Given the description of an element on the screen output the (x, y) to click on. 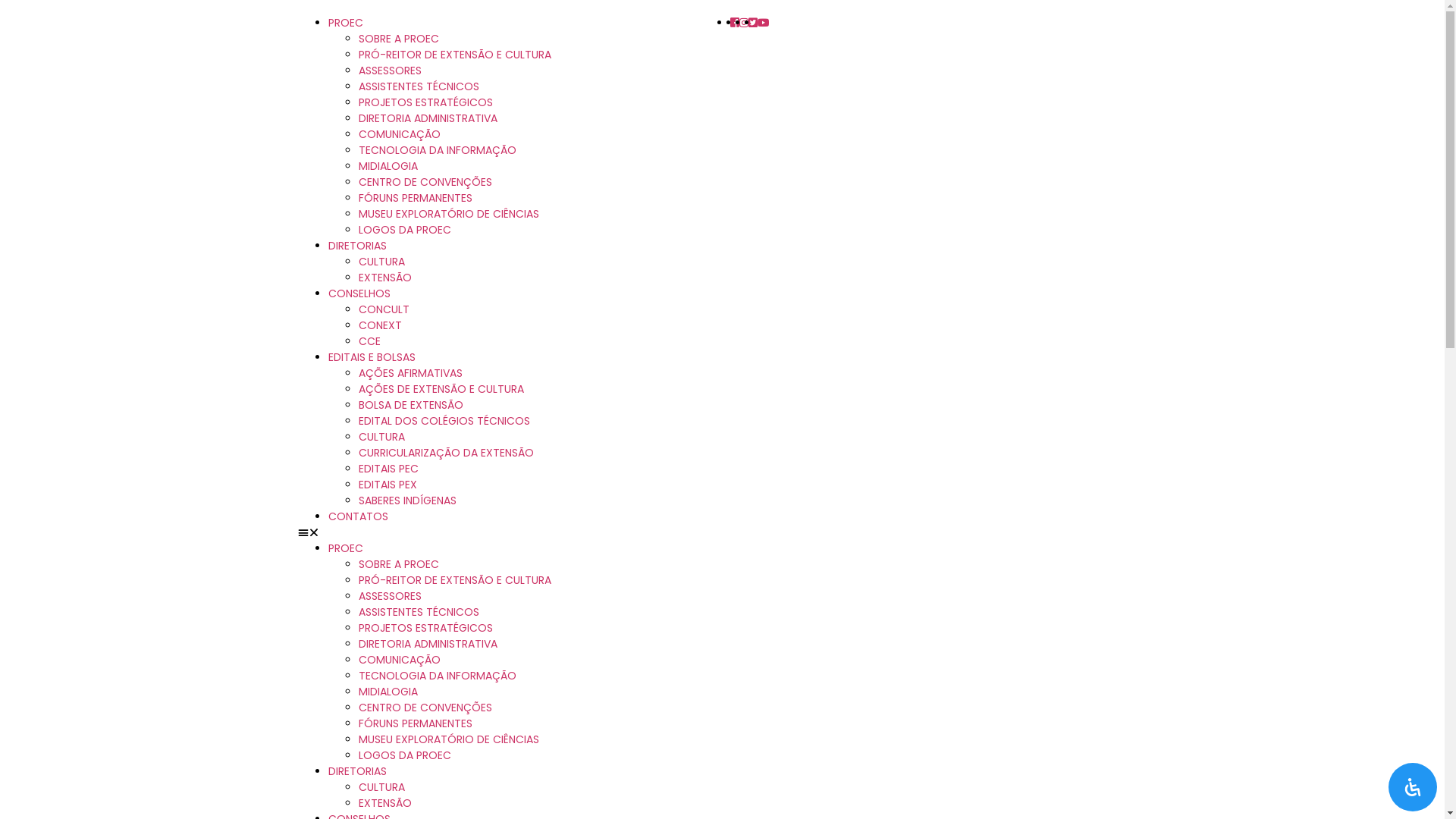
DIRETORIA ADMINISTRATIVA Element type: text (426, 117)
SOBRE A PROEC Element type: text (397, 38)
LOGOS DA PROEC Element type: text (403, 754)
CONTATOS Element type: text (357, 516)
PROEC Element type: text (344, 547)
Acessibilidade Element type: hover (1412, 786)
DIRETORIAS Element type: text (356, 770)
ASSESSORES Element type: text (388, 70)
LOGOS DA PROEC Element type: text (403, 229)
ASSESSORES Element type: text (388, 595)
CCE Element type: text (368, 340)
EDITAIS PEC Element type: text (387, 468)
DIRETORIAS Element type: text (356, 245)
CULTURA Element type: text (380, 436)
MIDIALOGIA Element type: text (387, 165)
CONEXT Element type: text (379, 324)
EDITAIS E BOLSAS Element type: text (370, 356)
CONCULT Element type: text (382, 308)
PROEC Element type: text (344, 22)
SOBRE A PROEC Element type: text (397, 563)
MIDIALOGIA Element type: text (387, 691)
CULTURA Element type: text (380, 261)
EDITAIS PEX Element type: text (386, 484)
CULTURA Element type: text (380, 786)
CONSELHOS Element type: text (358, 293)
DIRETORIA ADMINISTRATIVA Element type: text (426, 643)
